Given the description of an element on the screen output the (x, y) to click on. 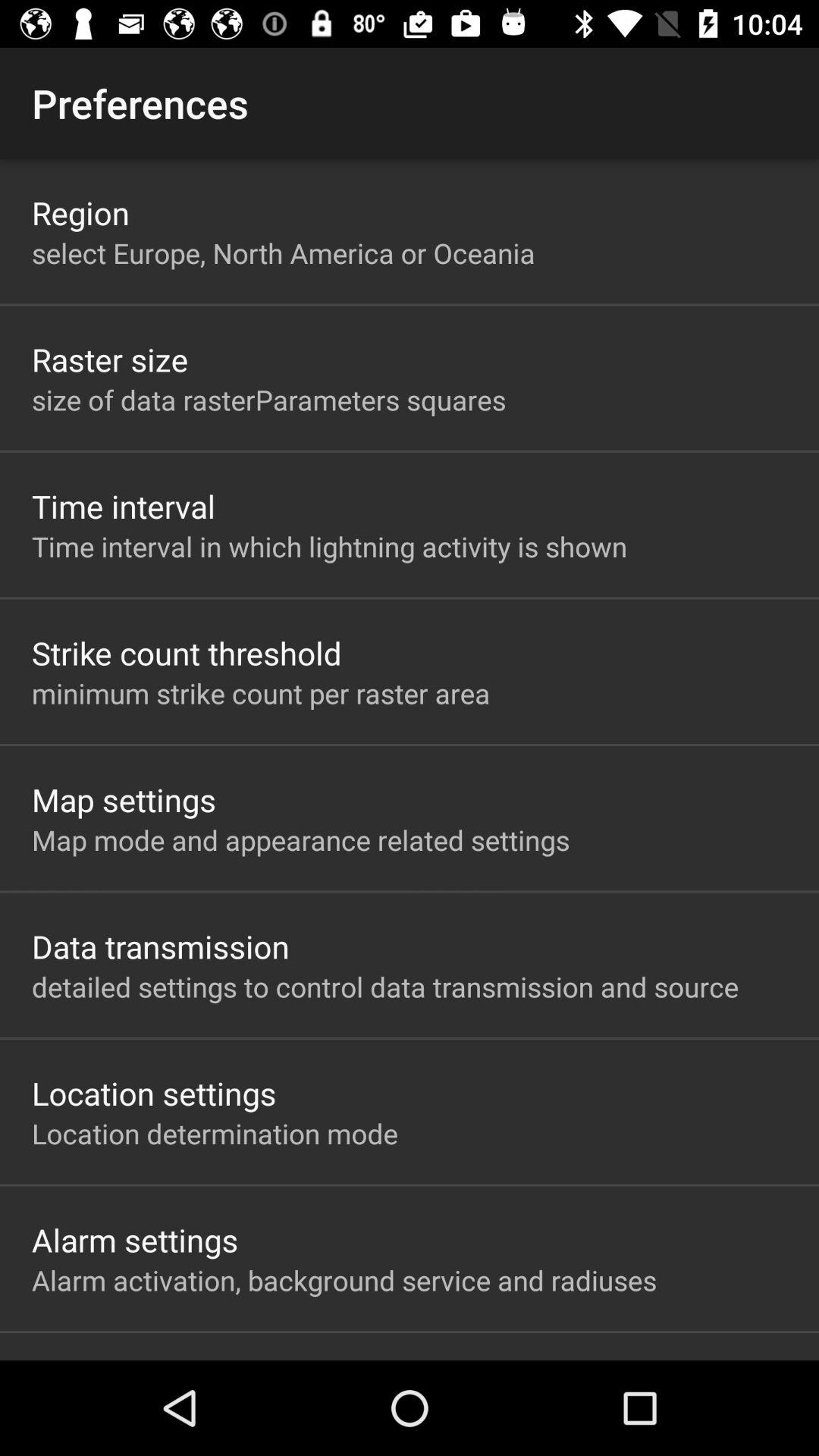
flip to map mode and app (300, 839)
